Given the description of an element on the screen output the (x, y) to click on. 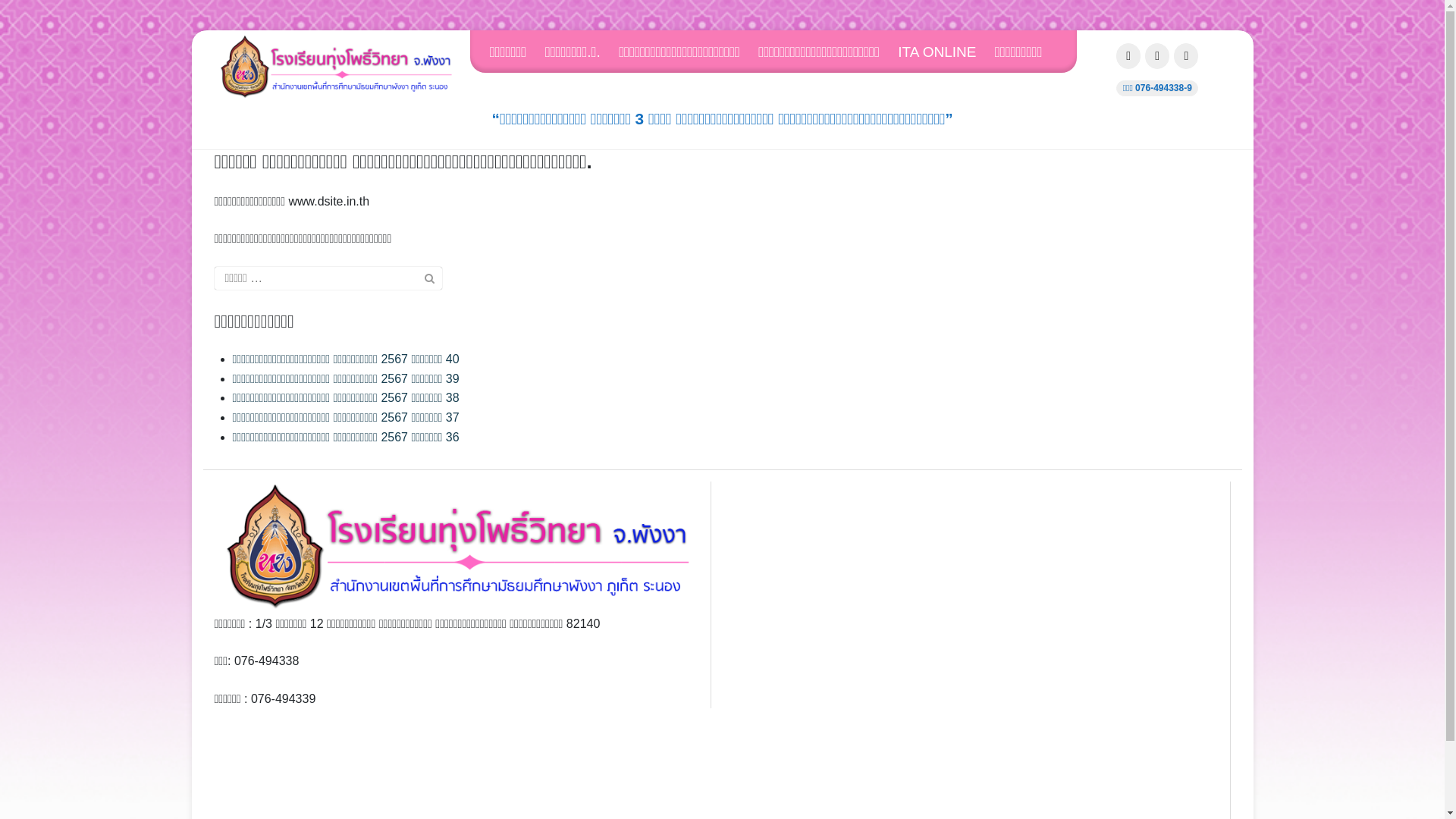
ITA ONLINE (944, 51)
